Given the description of an element on the screen output the (x, y) to click on. 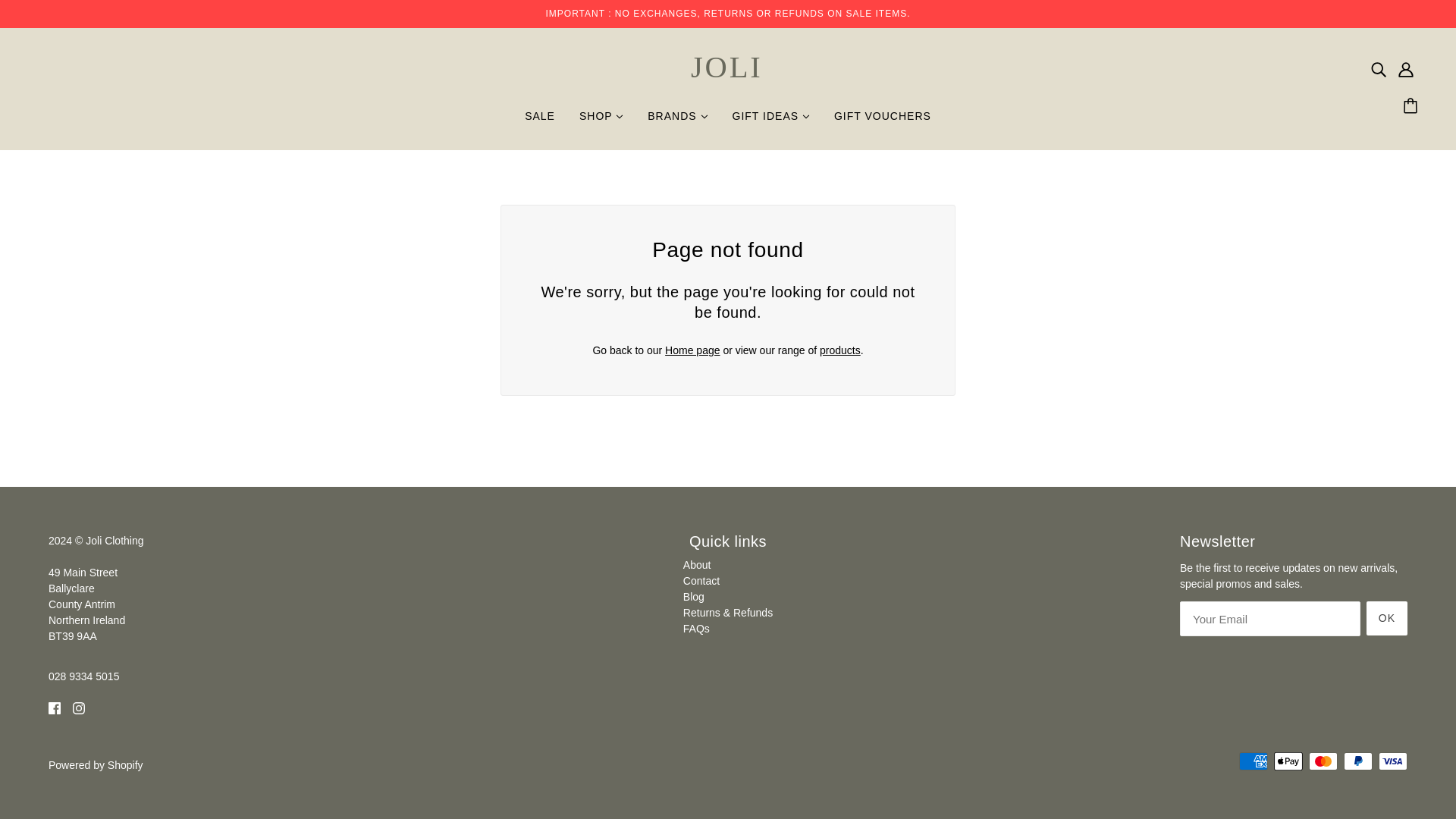
FAQs (696, 628)
Blog (693, 596)
SHOP  (600, 121)
Contact (700, 580)
About (696, 564)
JoliClothing (727, 81)
BRANDS  (676, 121)
SALE (539, 121)
